Given the description of an element on the screen output the (x, y) to click on. 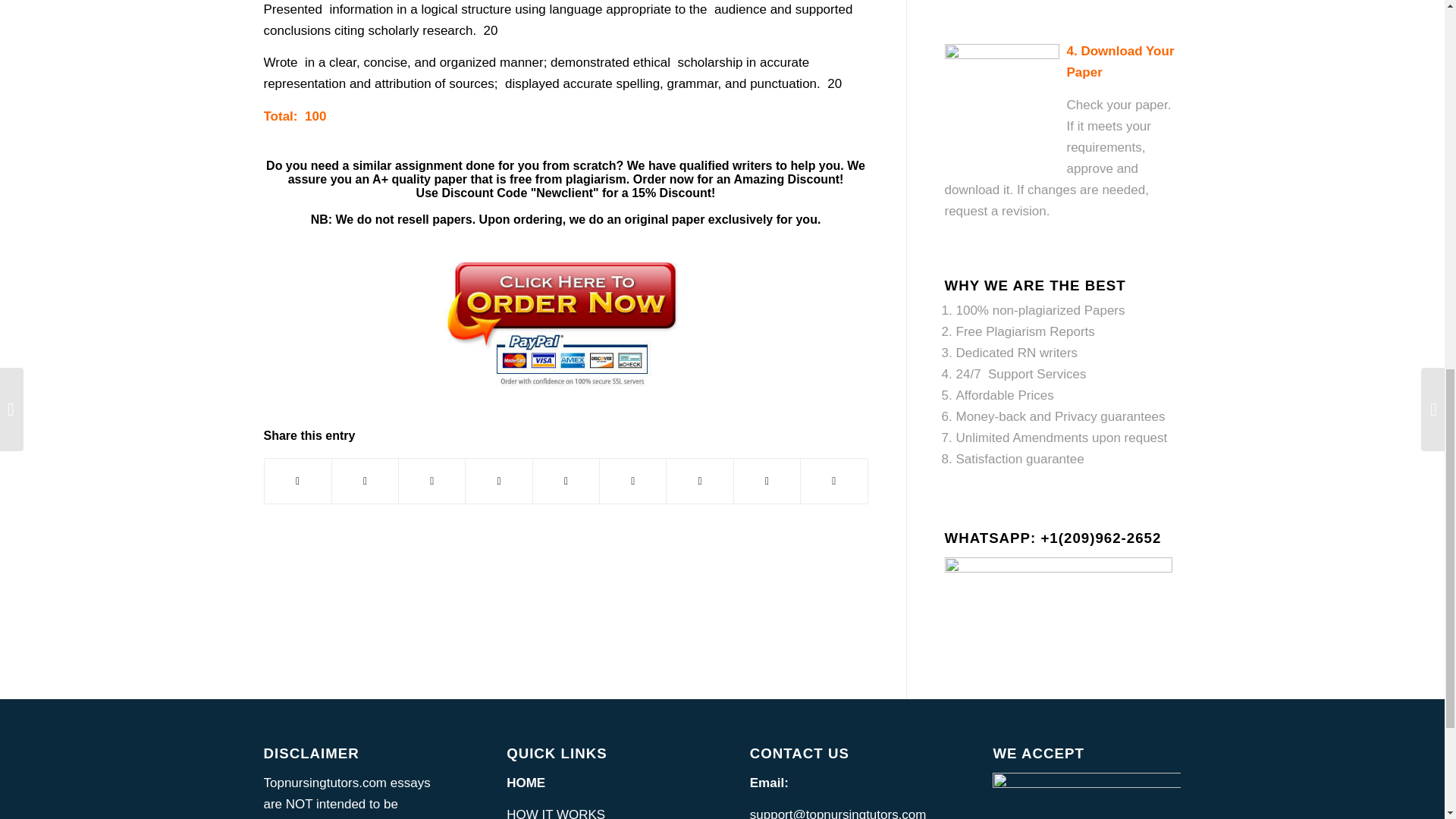
HOW IT WORKS (555, 813)
HOME (525, 782)
